Given the description of an element on the screen output the (x, y) to click on. 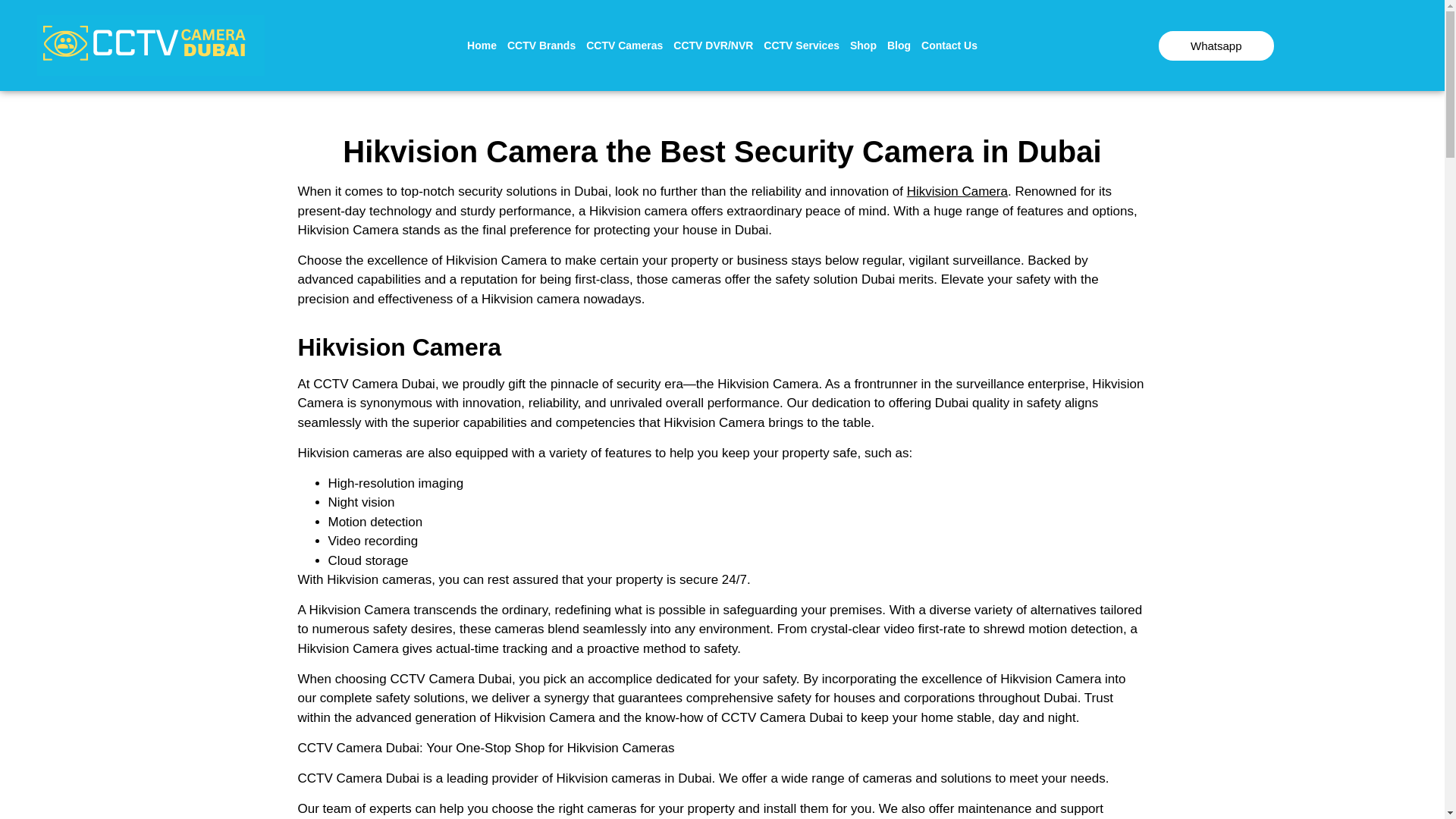
CCTV Brands (541, 45)
Home (481, 45)
CCTV Services (801, 45)
CCTV Cameras (624, 45)
